Given the description of an element on the screen output the (x, y) to click on. 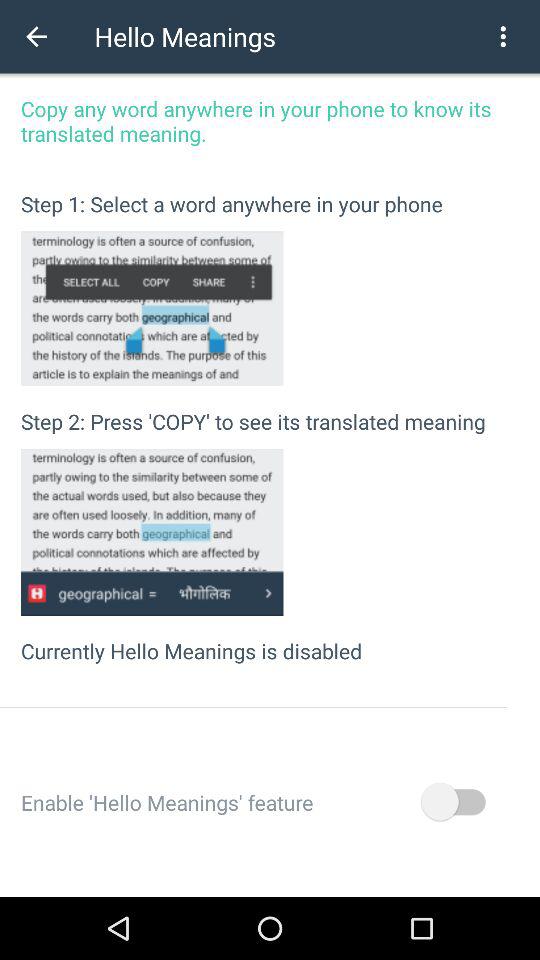
launch the item next to the hello meanings item (503, 36)
